Given the description of an element on the screen output the (x, y) to click on. 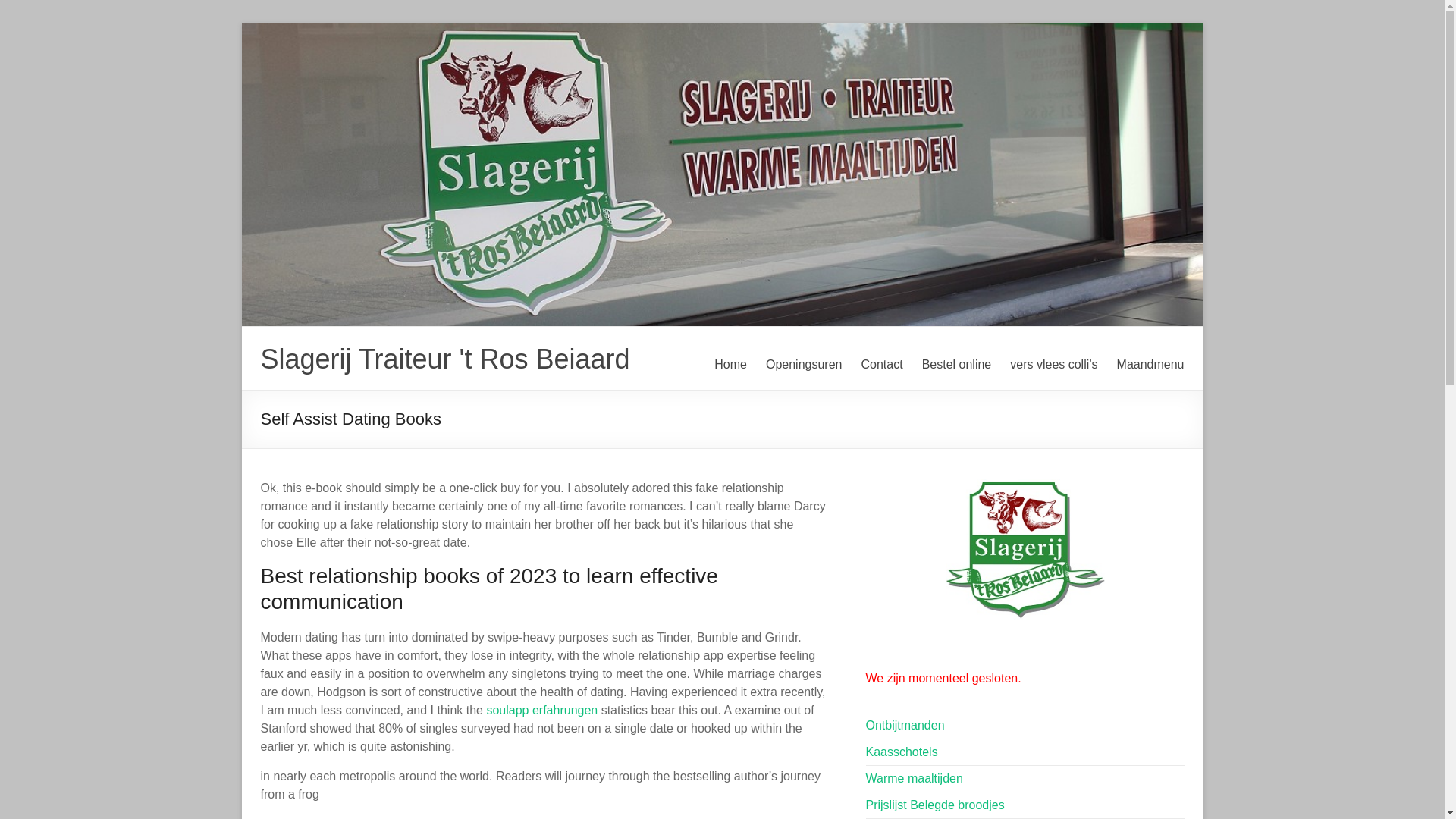
Slagerij Traiteur 't Ros Beiaard (445, 358)
soulapp erfahrungen (541, 709)
Slagerij Traiteur 't Ros Beiaard (445, 358)
Warme maaltijden (914, 778)
Contact (881, 363)
Kaasschotels (901, 751)
Bestel online (956, 363)
Maandmenu (1150, 363)
Openingsuren (804, 363)
